Given the description of an element on the screen output the (x, y) to click on. 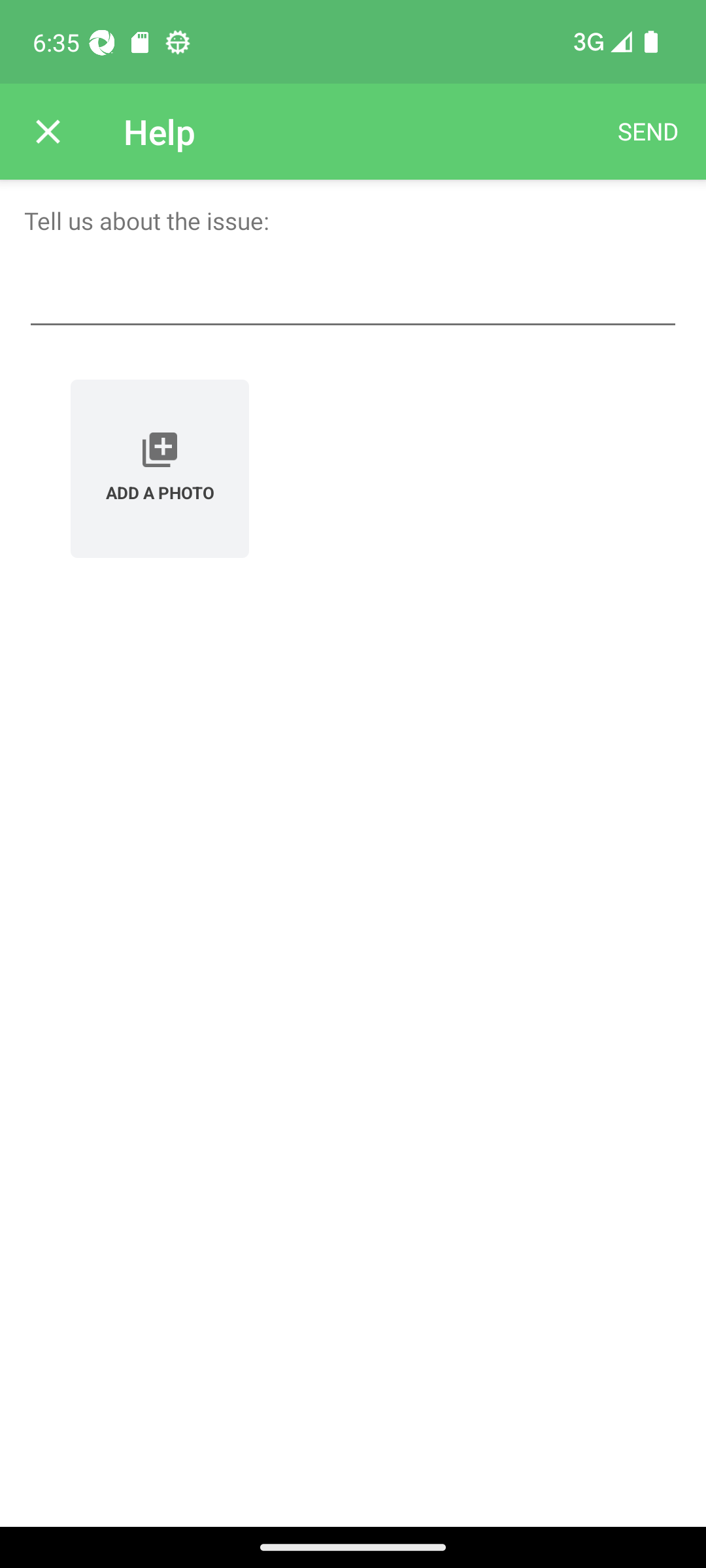
Navigate up (48, 131)
SEND (647, 131)
ADD A PHOTO (159, 468)
